Given the description of an element on the screen output the (x, y) to click on. 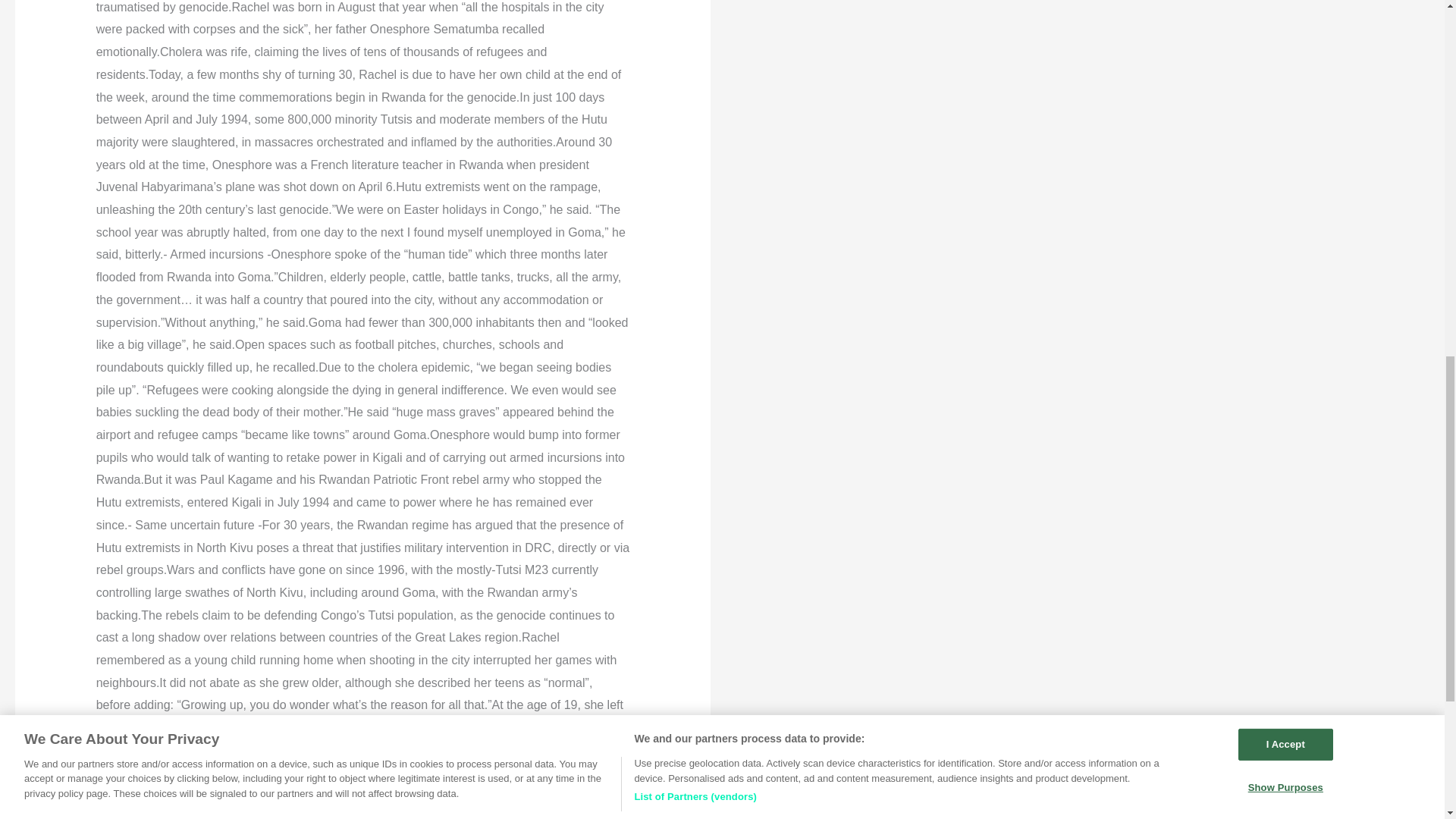
Show Purposes (1286, 15)
